Given the description of an element on the screen output the (x, y) to click on. 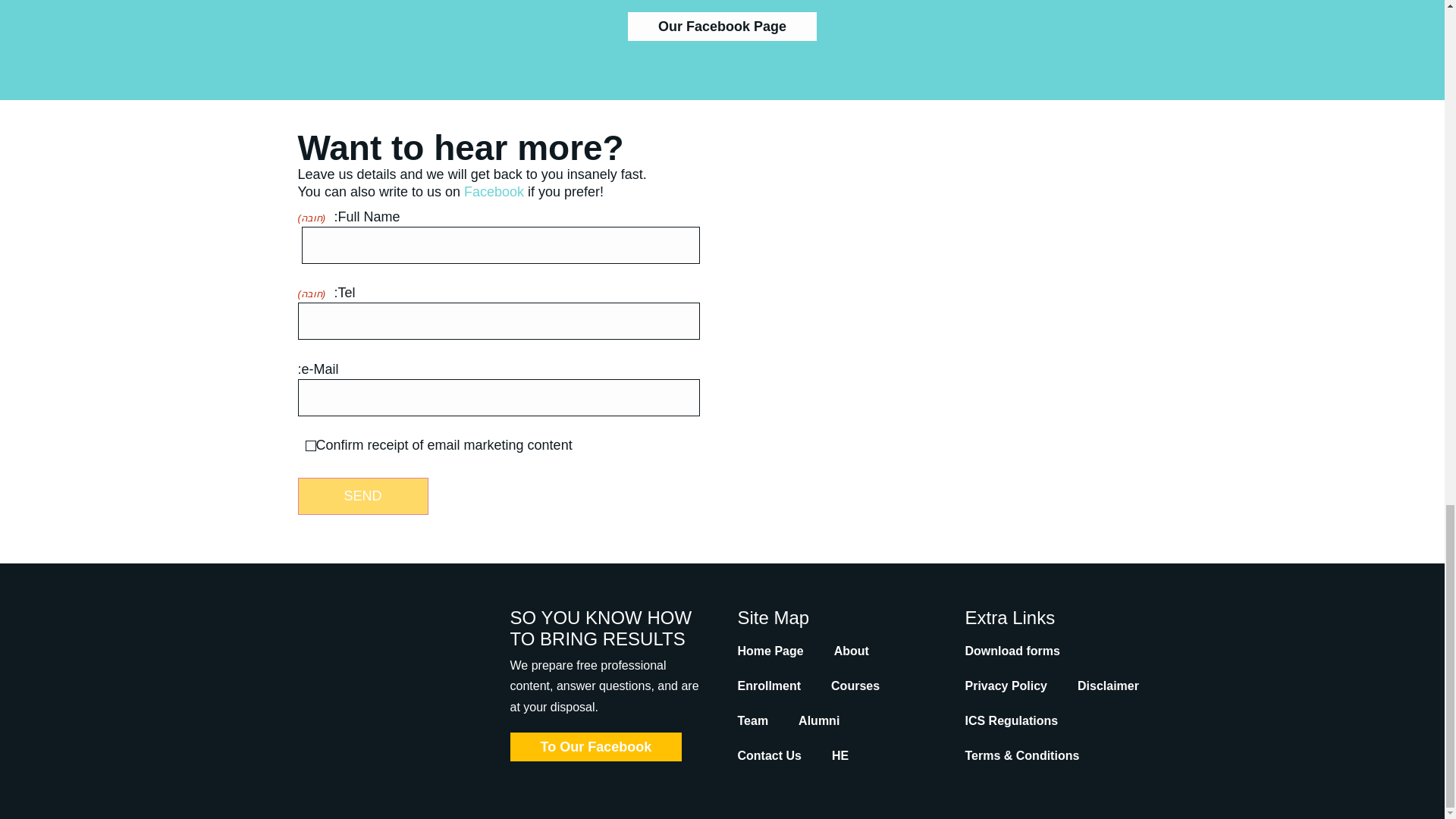
Home Page (770, 651)
Facebook (494, 191)
Alumni (818, 720)
SEND (362, 496)
Download forms (1011, 651)
Contact Us (768, 755)
To Our Facebook (595, 746)
Enrollment (768, 686)
SEND (362, 496)
Courses (855, 686)
